Given the description of an element on the screen output the (x, y) to click on. 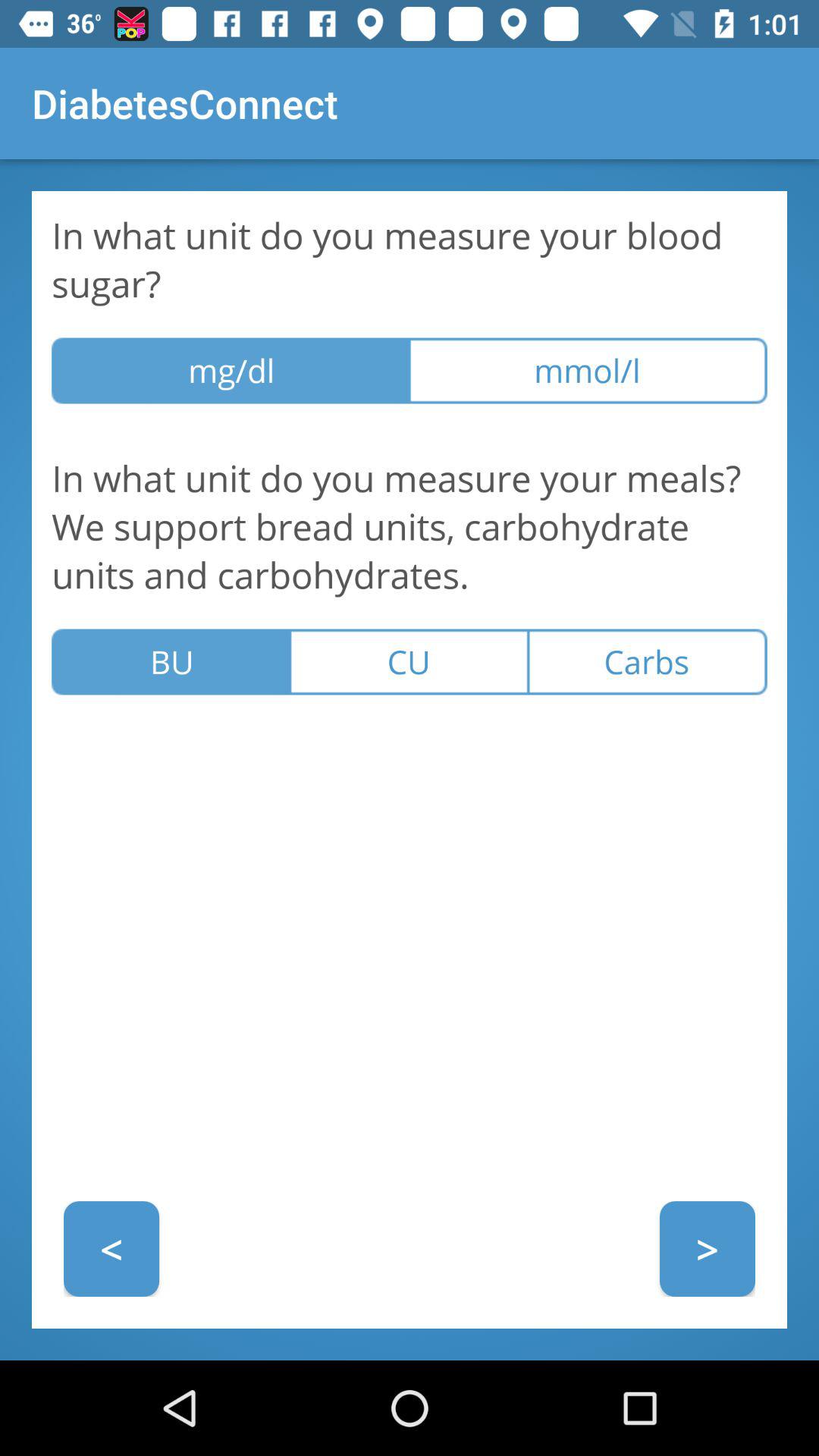
scroll to the bu (170, 662)
